Given the description of an element on the screen output the (x, y) to click on. 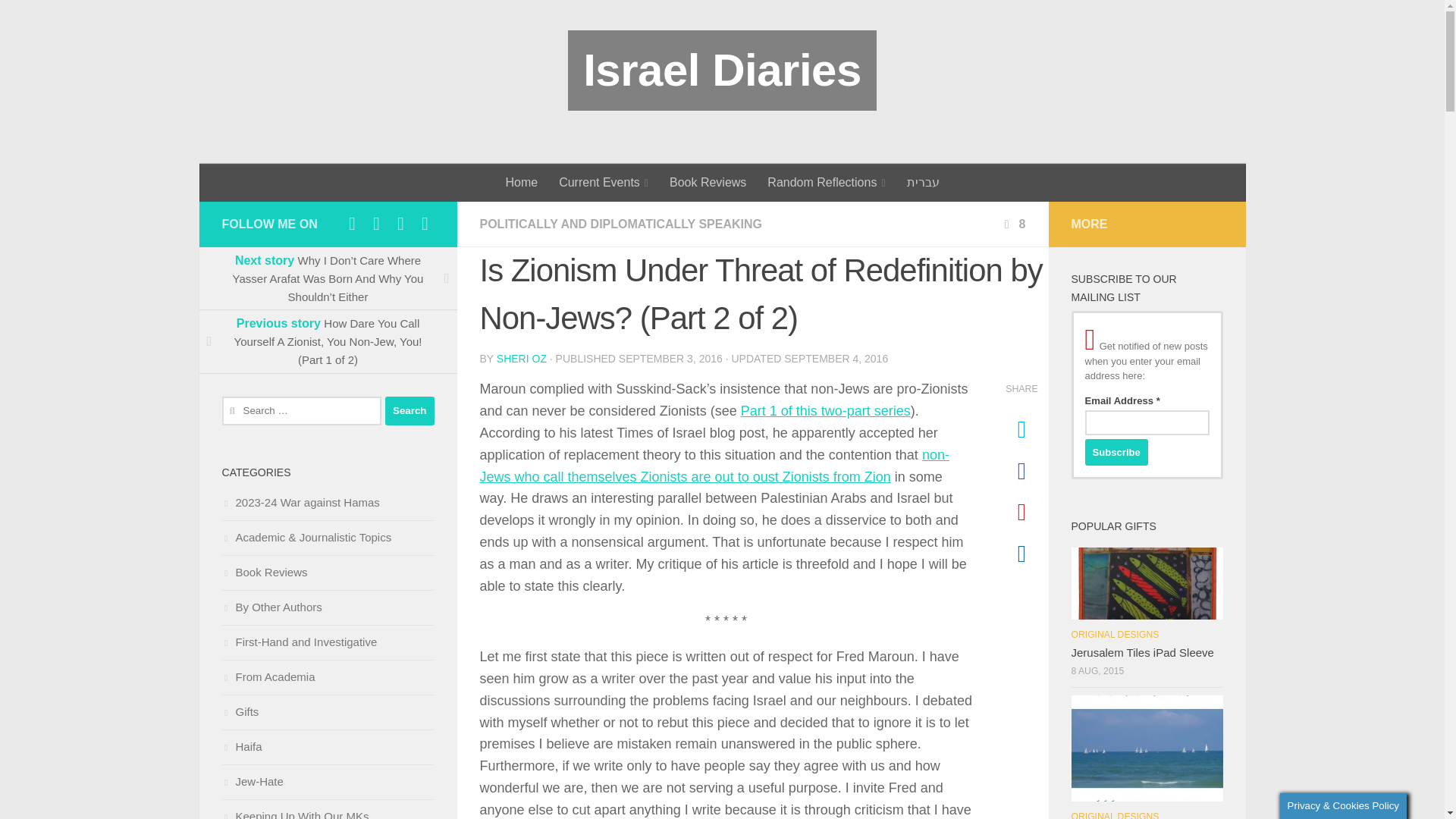
Posts by Sheri Oz (521, 358)
Current Events (603, 182)
Skip to content (63, 20)
Book Reviews (708, 182)
Search (409, 410)
Twitter (423, 223)
Search (409, 410)
Home (521, 182)
Pinterest (400, 223)
LinkedIn (375, 223)
Israel Diaries (721, 70)
Random Reflections (826, 182)
Subscribe (1115, 452)
Facebook (351, 223)
